Given the description of an element on the screen output the (x, y) to click on. 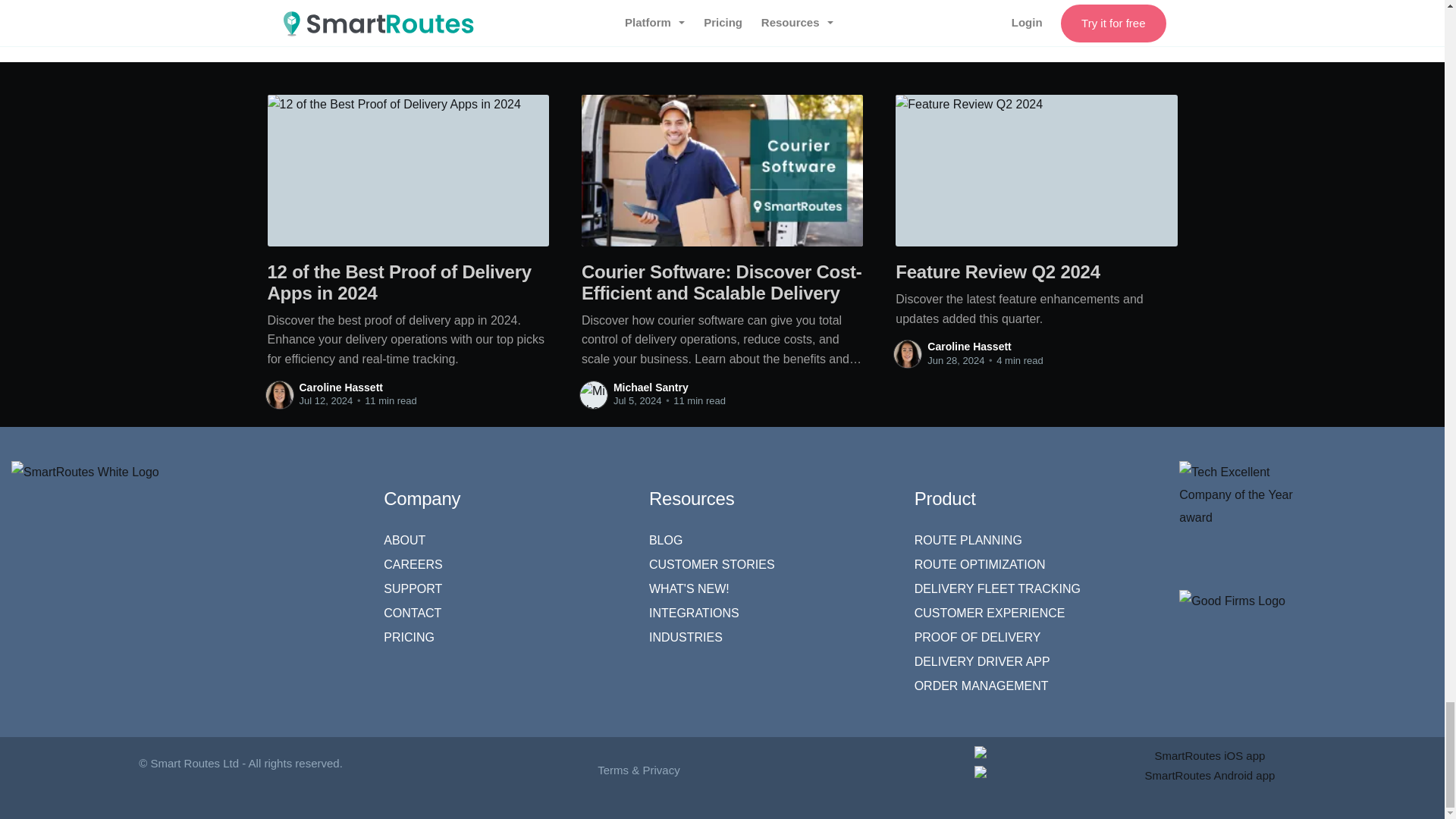
Caroline Hassett (339, 387)
